Given the description of an element on the screen output the (x, y) to click on. 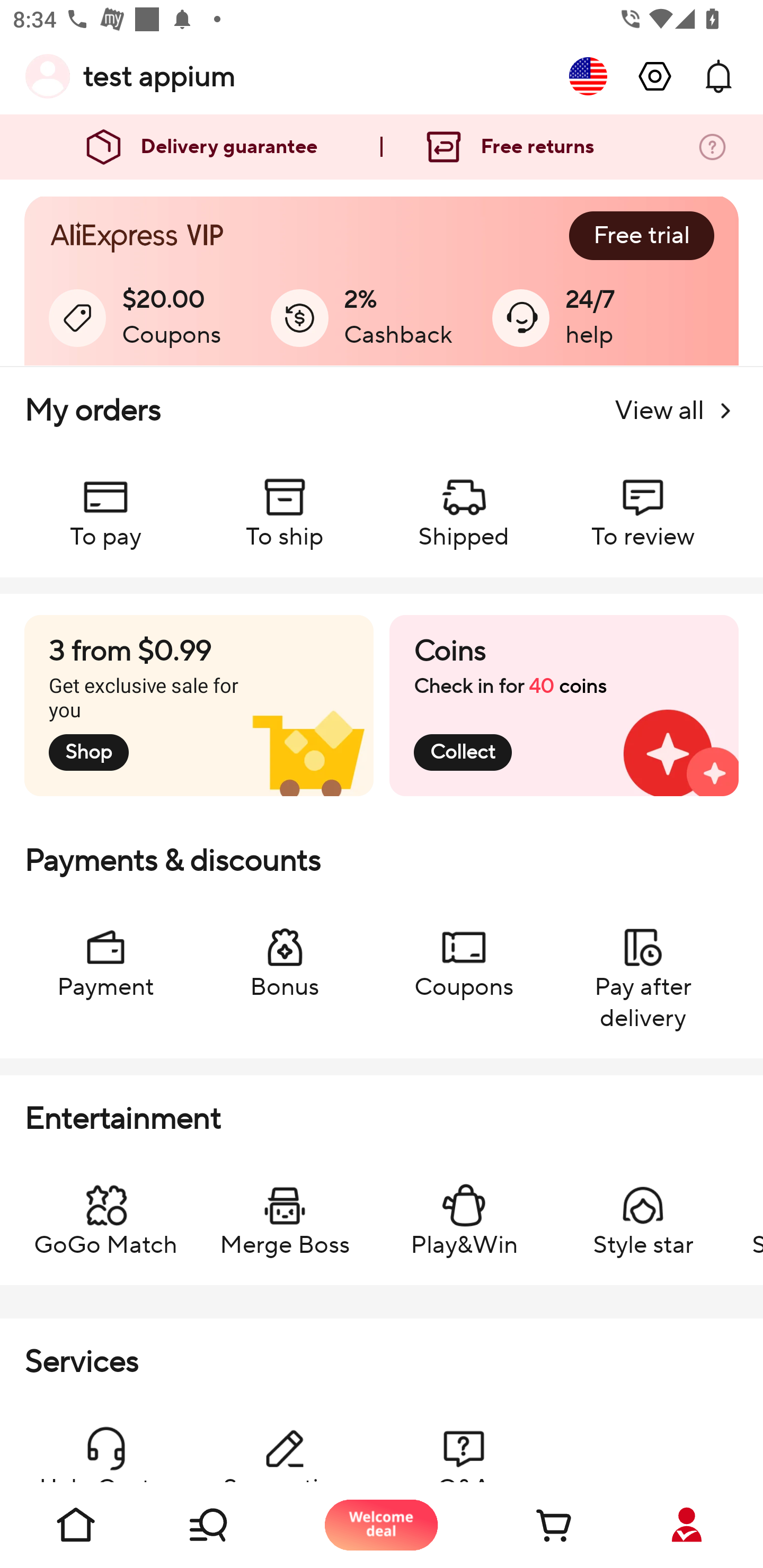
 (654, 75)
Messages (718, 75)
test appium (158, 75)
Free trial $20.00 Coupons 2% Cashback 24/7 help (381, 281)
View all (676, 410)
To pay (105, 503)
To ship (284, 503)
Shipped (463, 503)
To review (642, 503)
3 from $0.99 Get exclusive sale for you Shop (198, 705)
Coins Check in for 40 coins Collect (563, 705)
Payment (105, 953)
Bonus (284, 953)
Coupons (463, 953)
Pay after delivery (642, 969)
GoGo Match (105, 1211)
Merge Boss (284, 1211)
Play&Win (463, 1211)
Style star (642, 1211)
Help Center (105, 1443)
Suggestion (284, 1443)
Q&A (463, 1443)
Home (76, 1524)
Shop (228, 1524)
Cart (533, 1524)
